Given the description of an element on the screen output the (x, y) to click on. 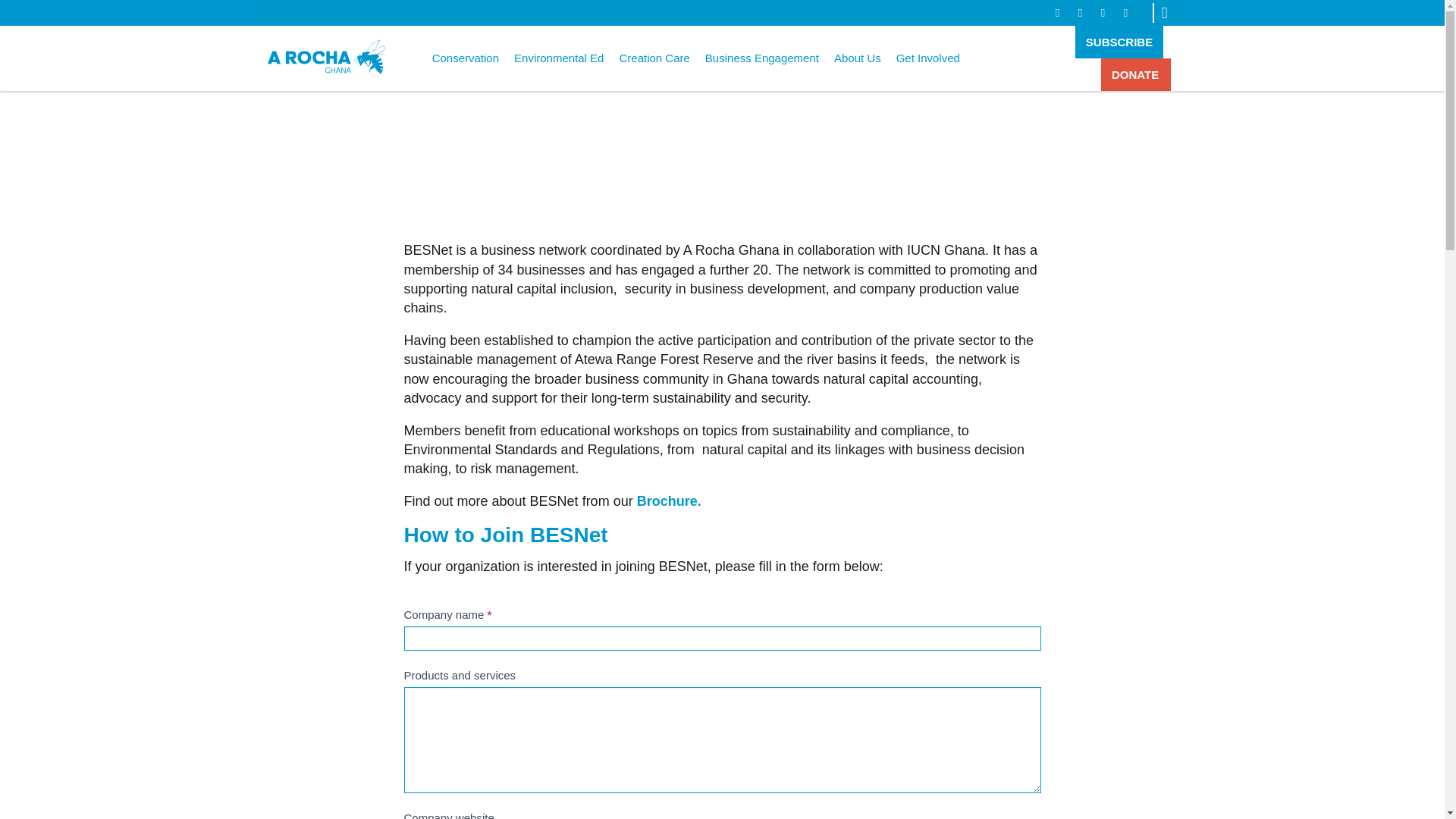
About Us (857, 58)
Business Engagement (761, 58)
Get Involved (927, 58)
Creation Care (653, 58)
Environmental Ed (558, 58)
Conservation (465, 58)
